Given the description of an element on the screen output the (x, y) to click on. 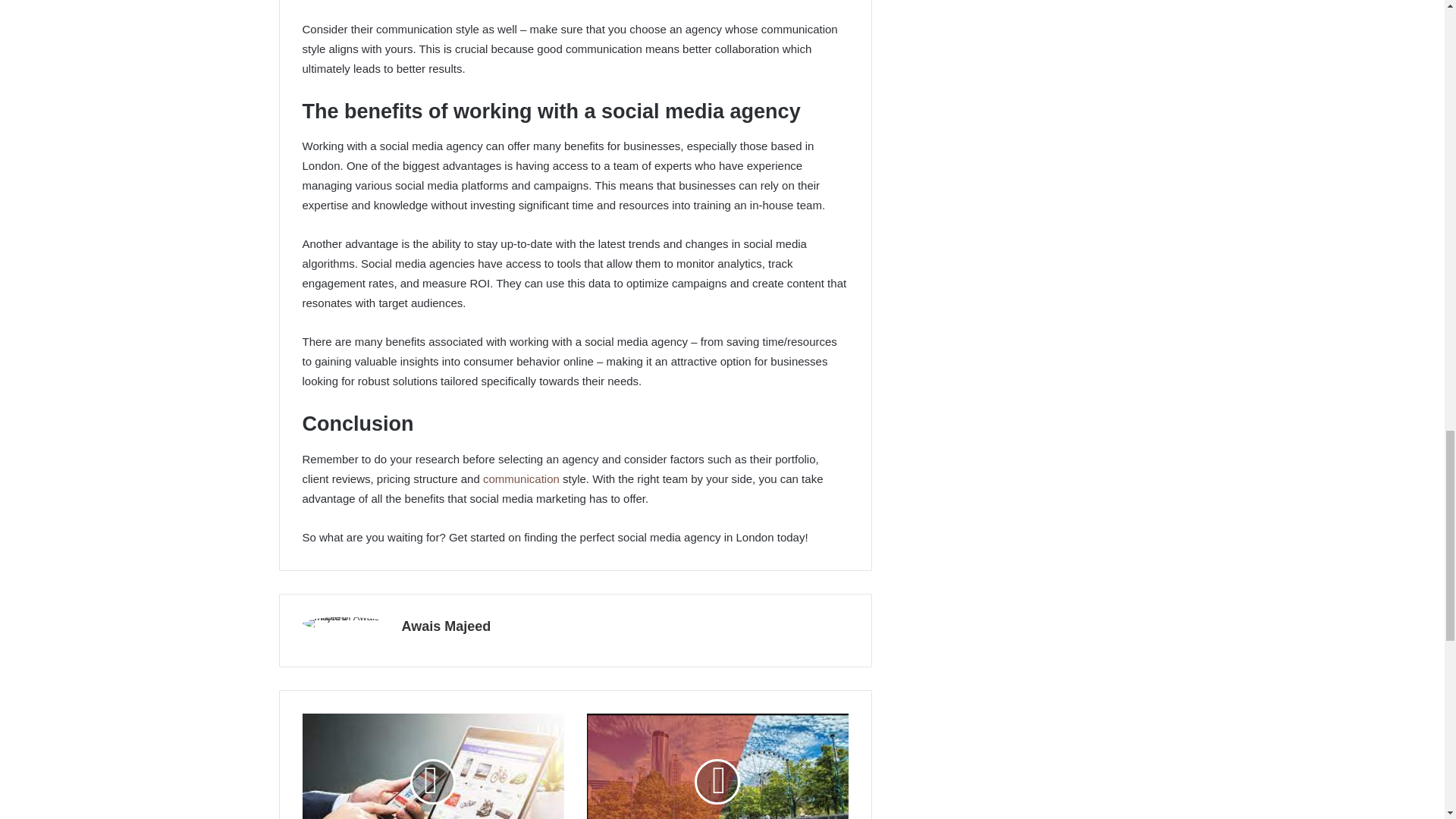
communication (522, 478)
Awais Majeed (446, 626)
